Given the description of an element on the screen output the (x, y) to click on. 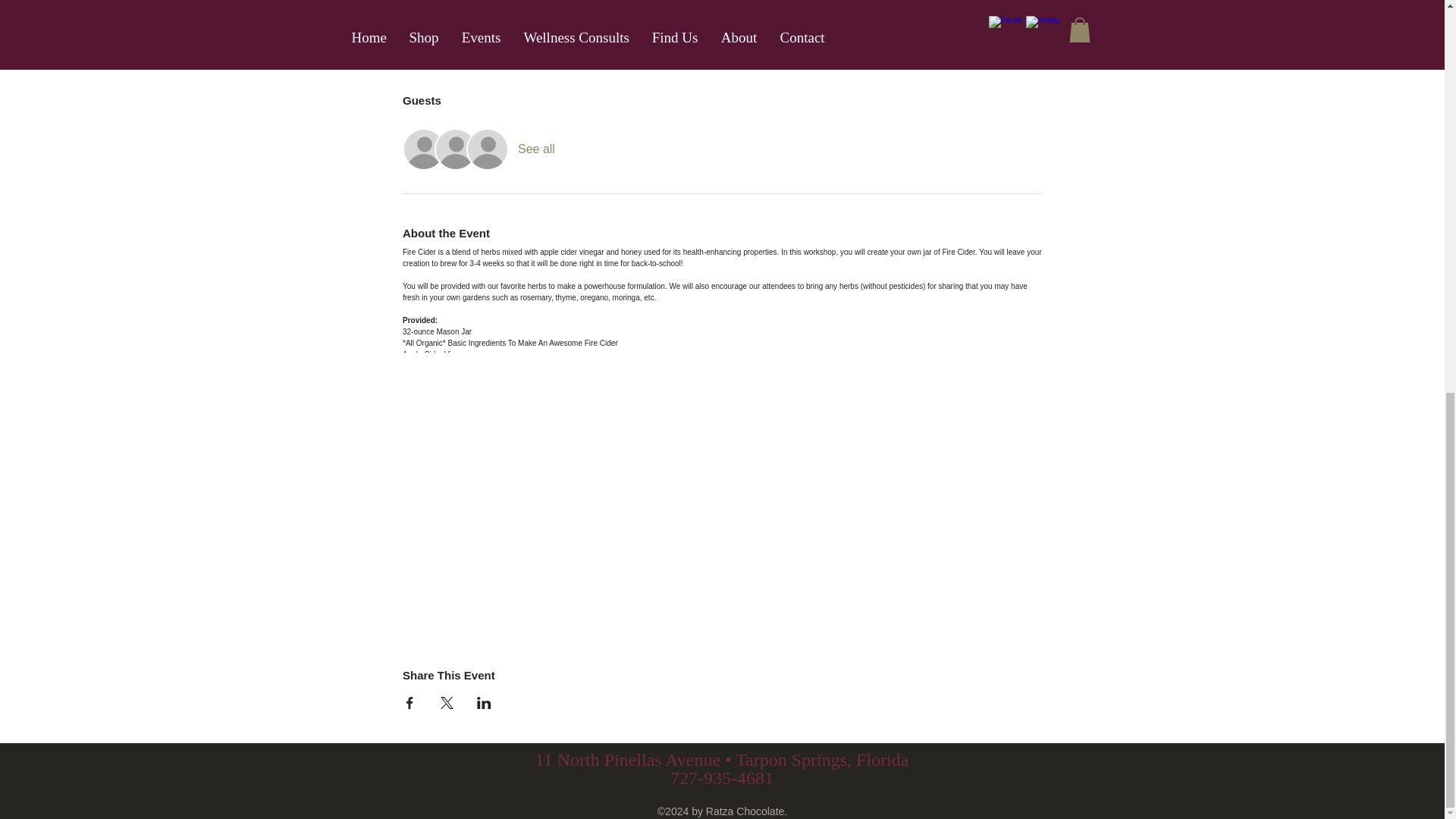
See all (536, 149)
